Given the description of an element on the screen output the (x, y) to click on. 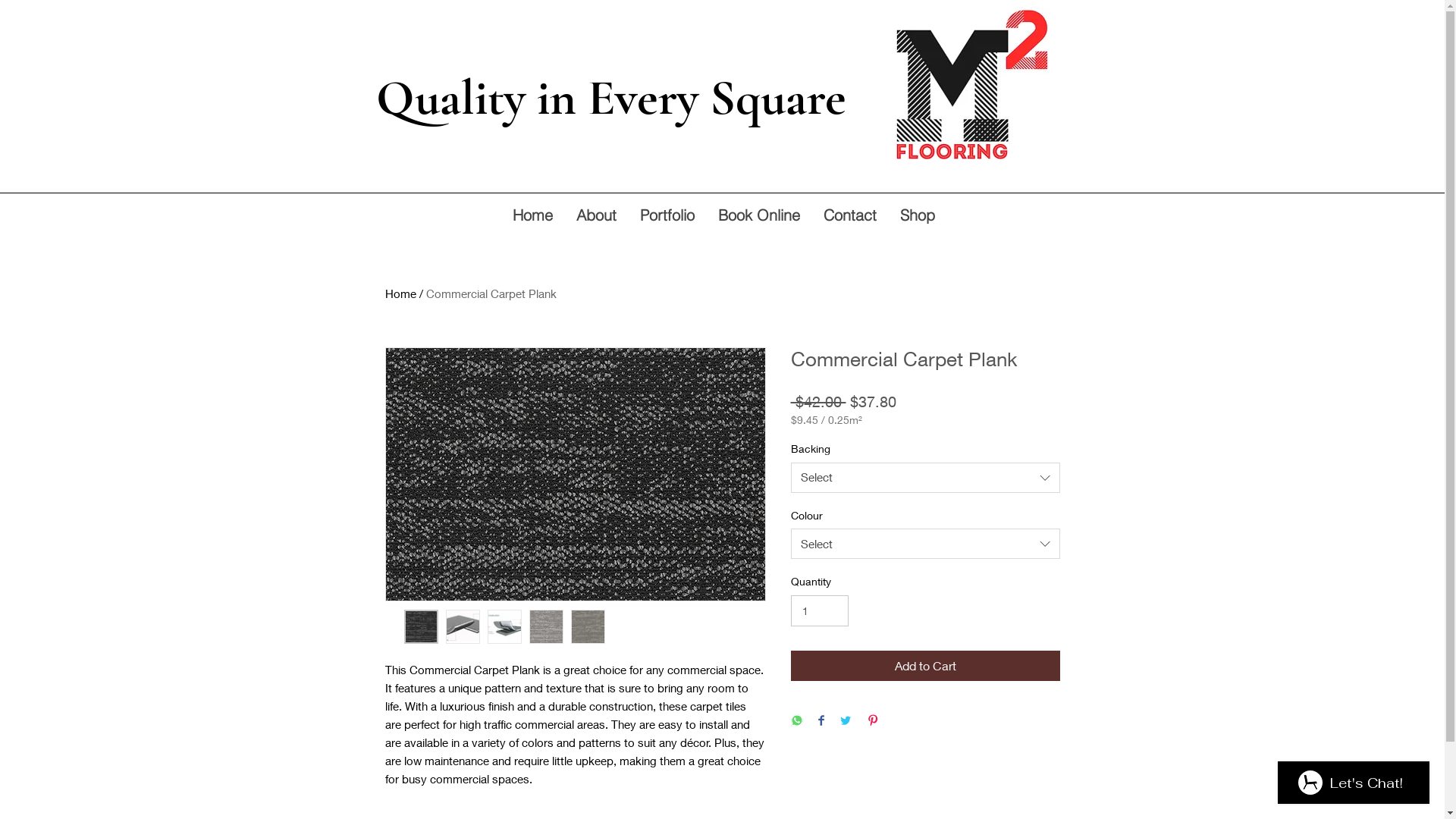
Select Element type: text (924, 543)
Contact Element type: text (849, 215)
Portfolio Element type: text (666, 215)
About Element type: text (595, 215)
Home Element type: text (532, 215)
Select Element type: text (924, 477)
Book Online Element type: text (757, 215)
Add to Cart Element type: text (924, 665)
Shop Element type: text (916, 215)
Quality in Every Square Element type: text (611, 97)
Commercial Carpet Plank Element type: text (491, 293)
Home Element type: text (400, 293)
